Given the description of an element on the screen output the (x, y) to click on. 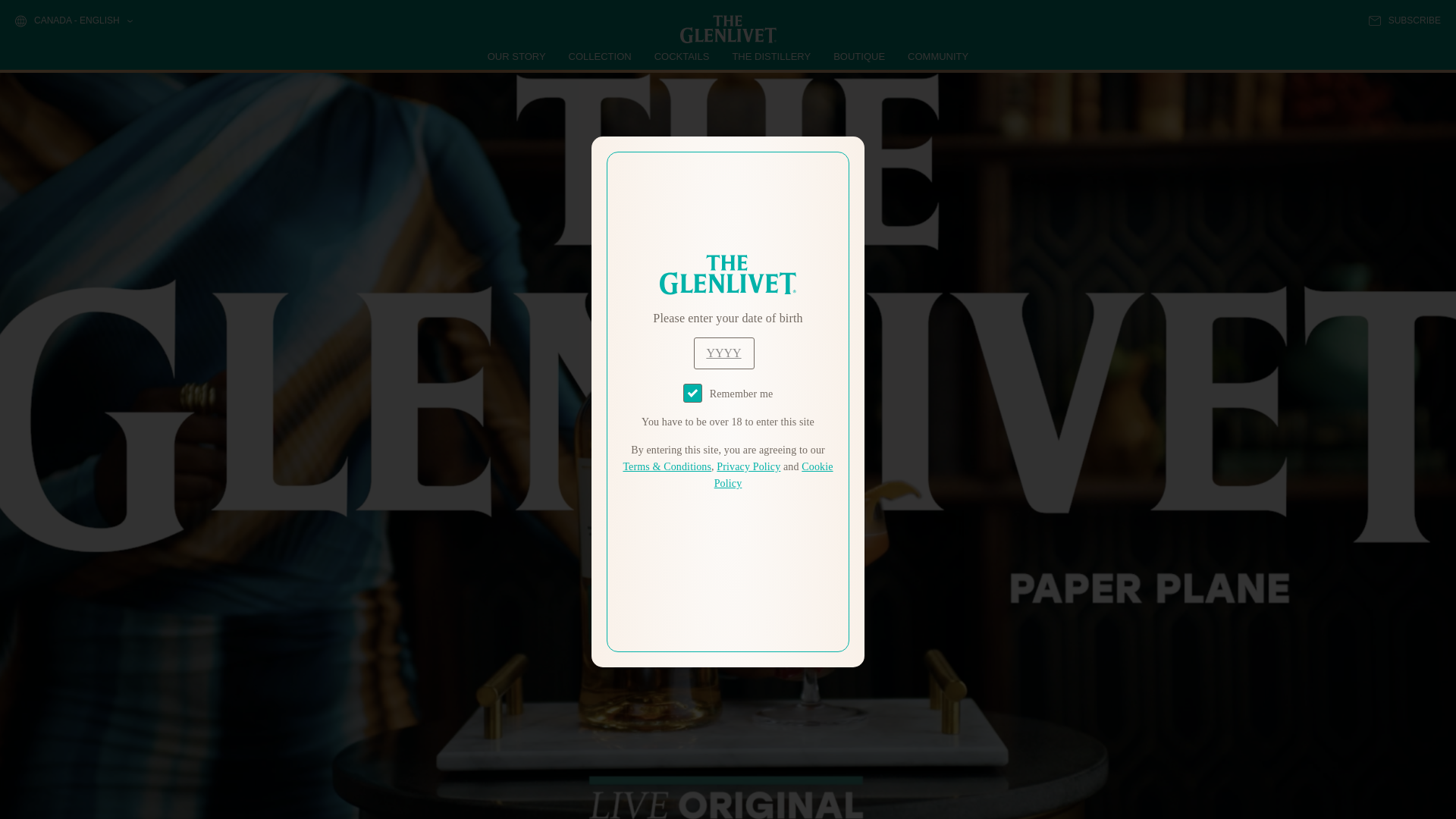
CANADA - ENGLISH (73, 21)
Cookie Policy (773, 474)
THE DISTILLERY (771, 56)
COLLECTION (600, 56)
COMMUNITY (937, 56)
year (723, 353)
COCKTAILS (681, 56)
OUR STORY (516, 56)
BOUTIQUE (858, 56)
SUBSCRIBE (1404, 20)
Privacy Policy (748, 466)
